Given the description of an element on the screen output the (x, y) to click on. 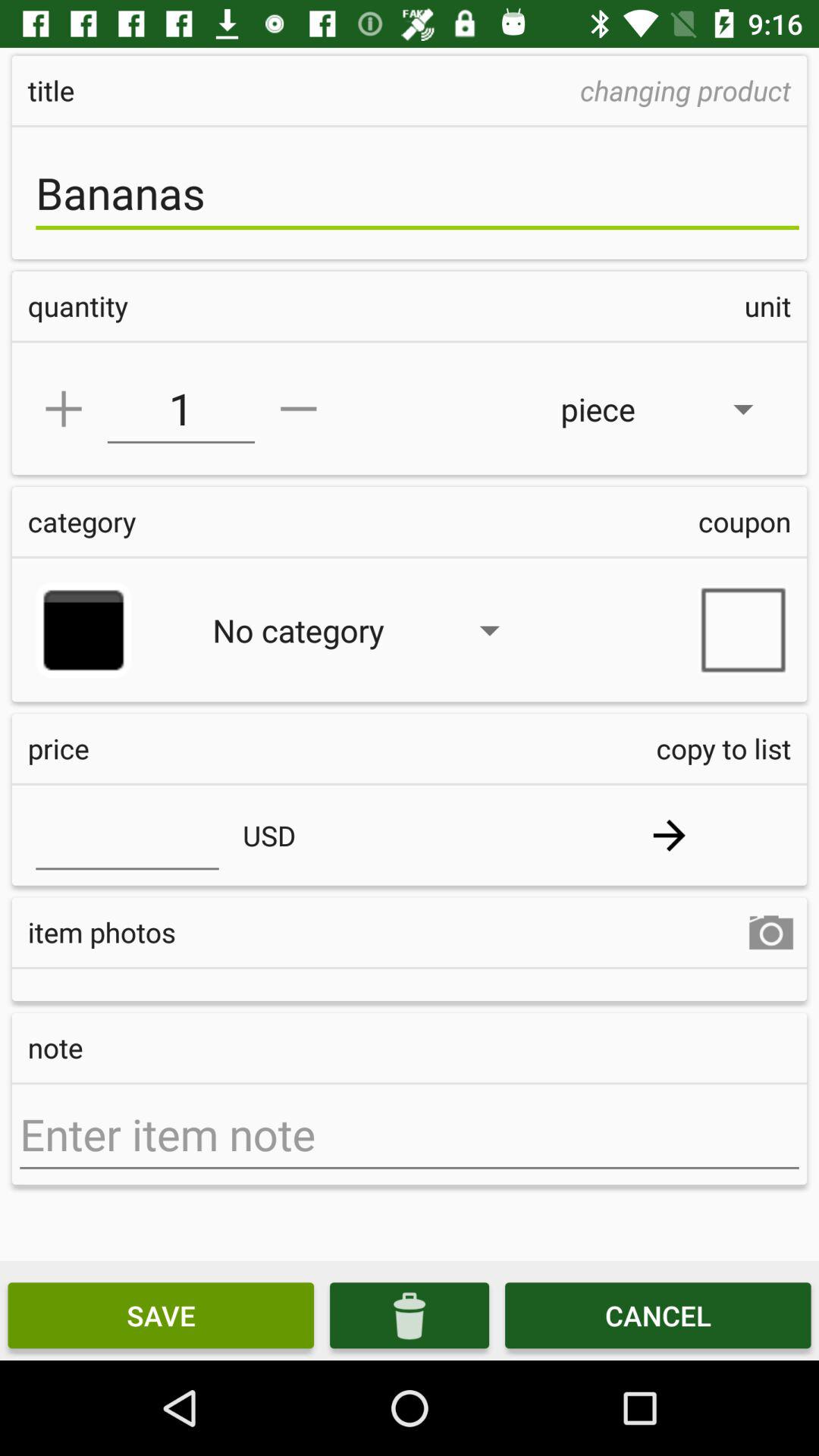
to less the quantity (298, 408)
